Given the description of an element on the screen output the (x, y) to click on. 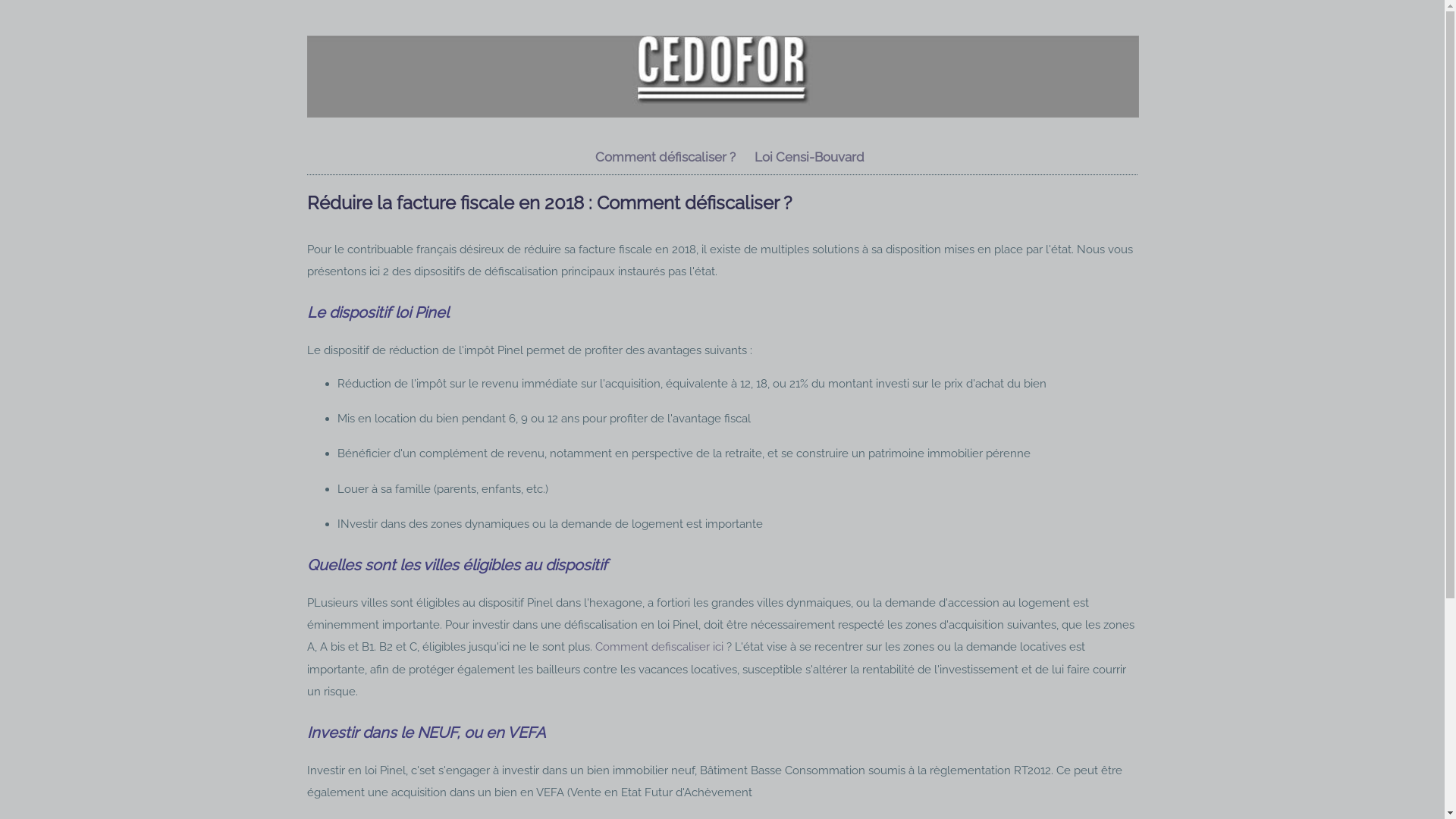
Comment defiscaliser ici Element type: text (659, 646)
Loi Censi-Bouvard Element type: text (809, 156)
